Given the description of an element on the screen output the (x, y) to click on. 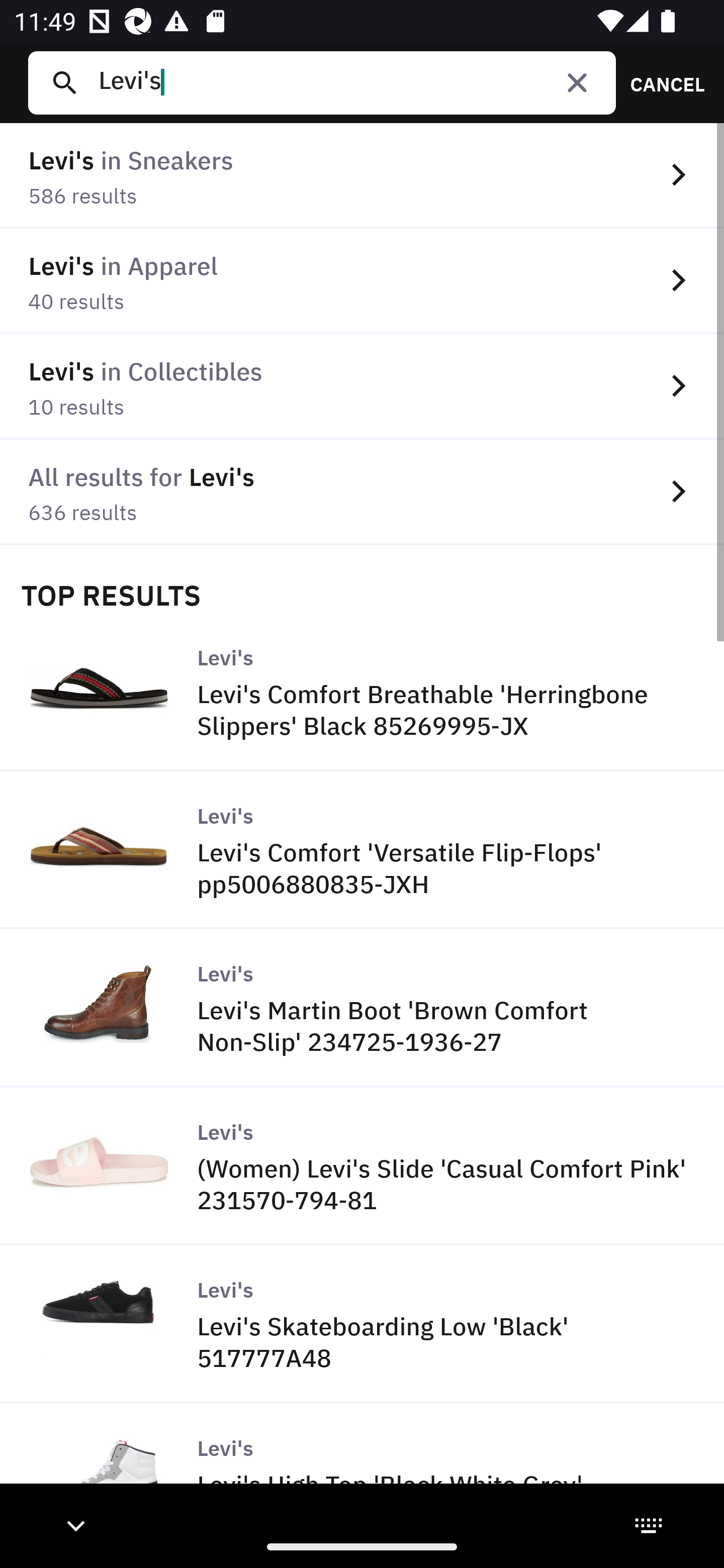
CANCEL (660, 82)
Levi's (349, 82)
 (577, 82)
Levi's  in Sneakers 586 results  (362, 175)
Levi's  in Apparel 40 results  (362, 280)
Levi's  in Collectibles 10 results  (362, 386)
All results for  Levi's 636 results  (362, 492)
Levi's Levi's Skateboarding Low 'Black' 517777A48 (362, 1323)
